Given the description of an element on the screen output the (x, y) to click on. 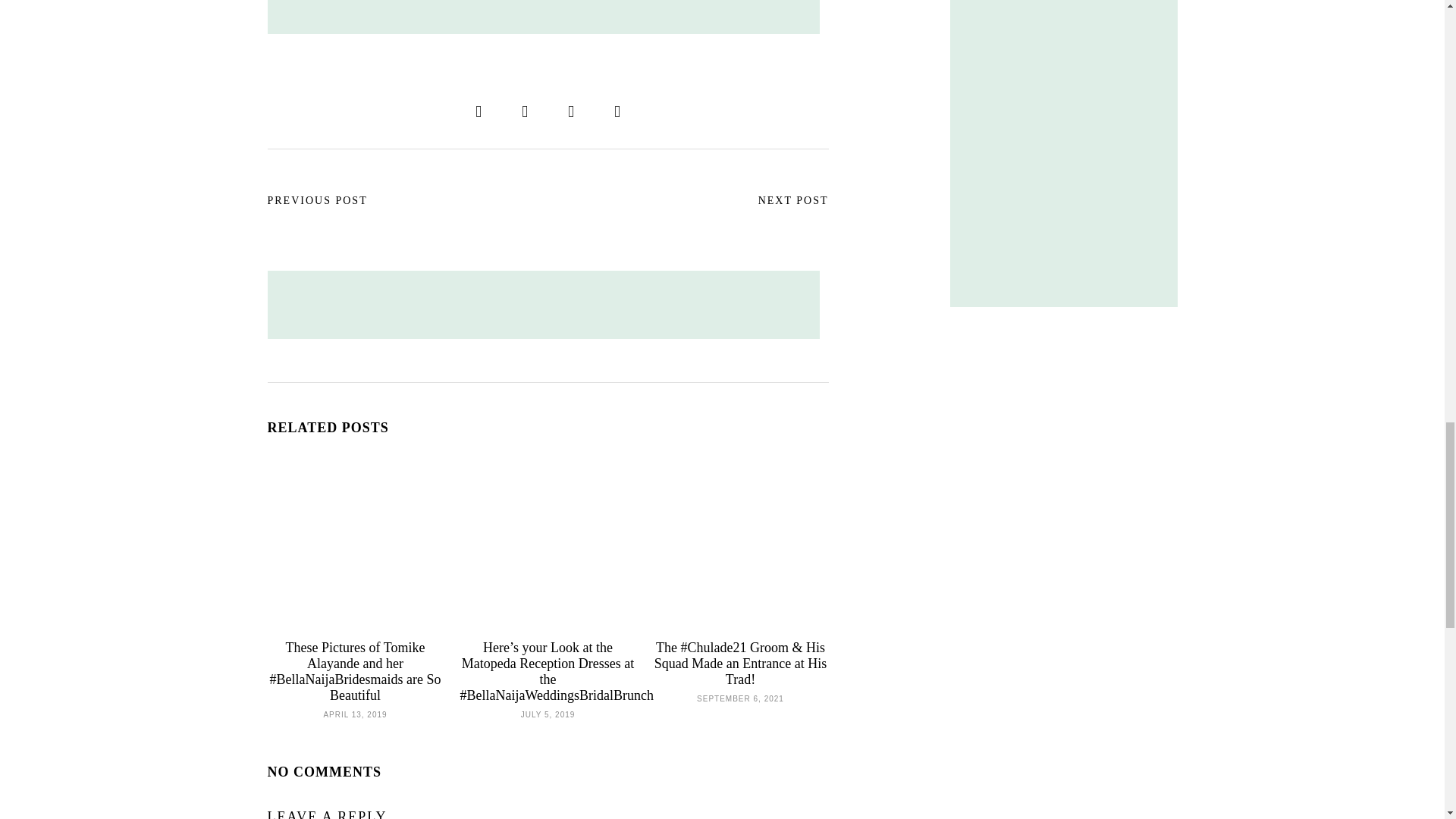
APRIL 13, 2019 (355, 712)
JULY 5, 2019 (548, 712)
SEPTEMBER 6, 2021 (740, 697)
NEXT POST (793, 200)
PREVIOUS POST (316, 200)
